Given the description of an element on the screen output the (x, y) to click on. 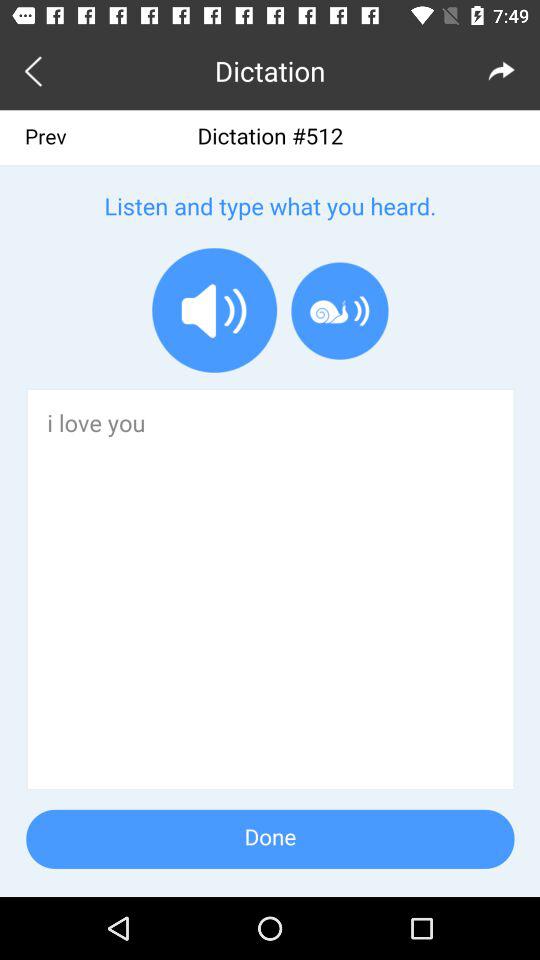
go to previous page (36, 70)
